Given the description of an element on the screen output the (x, y) to click on. 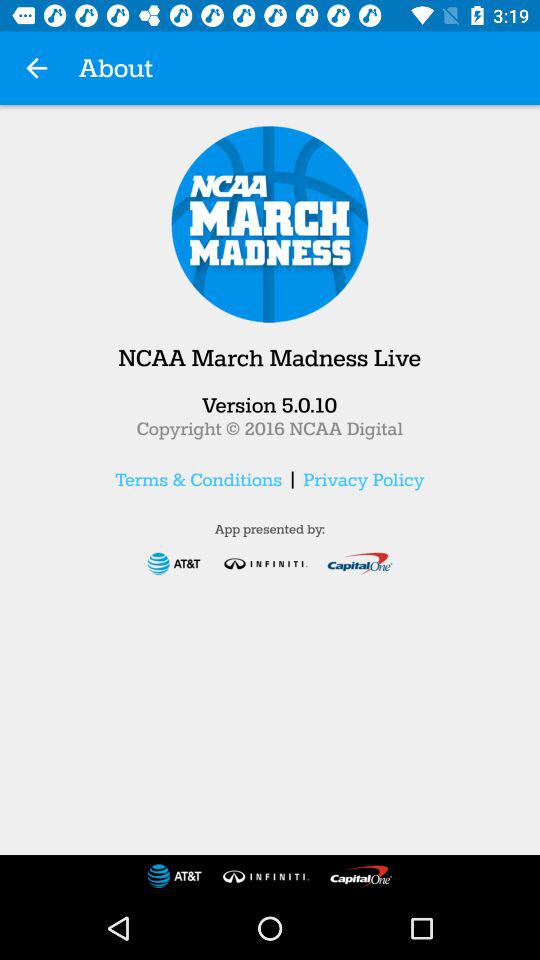
launch item above app presented by: item (198, 479)
